Given the description of an element on the screen output the (x, y) to click on. 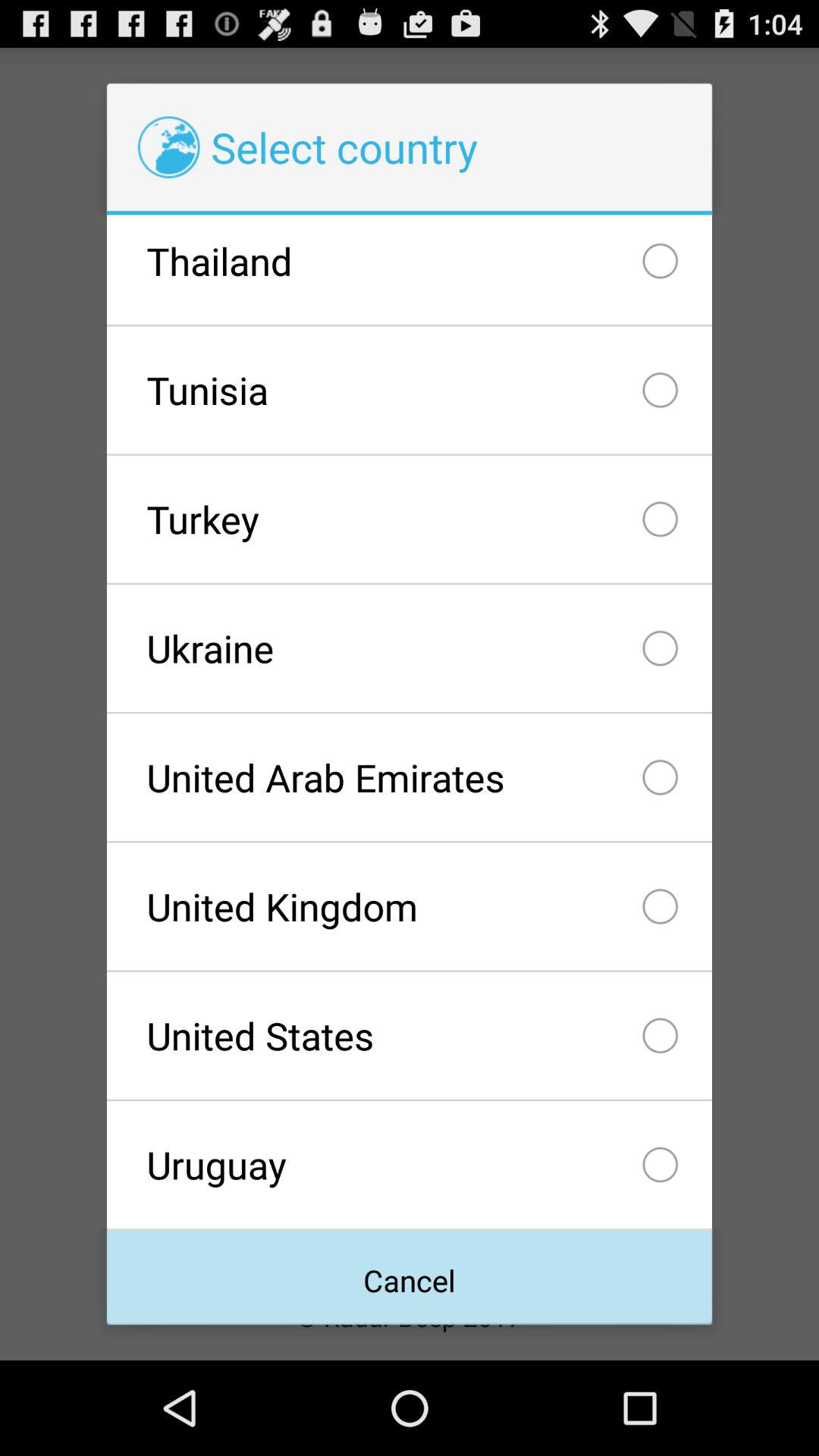
choose the thailand item (409, 269)
